Given the description of an element on the screen output the (x, y) to click on. 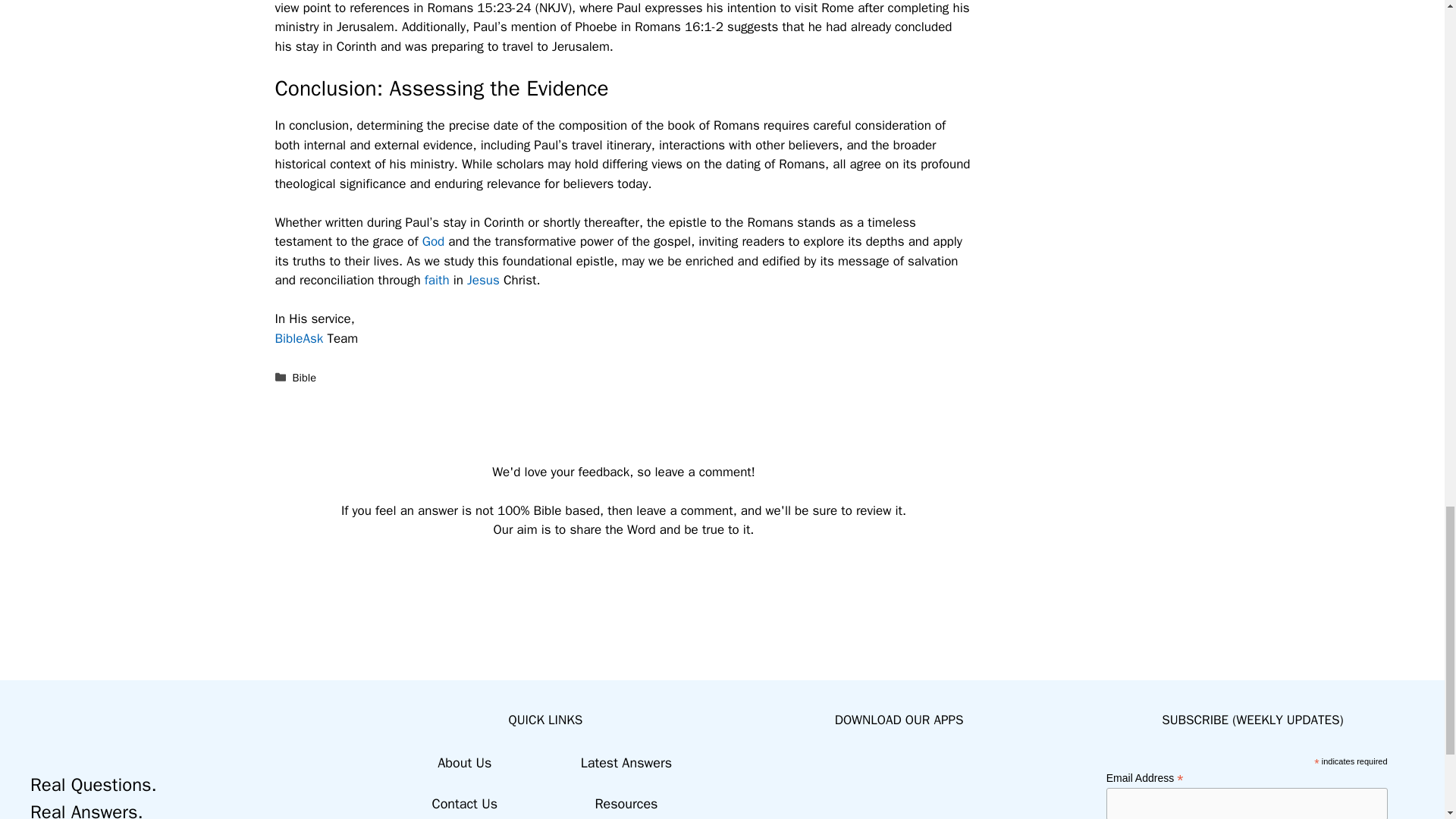
BibleAsk (299, 338)
faith (437, 279)
God (433, 241)
Jesus (483, 279)
